Given the description of an element on the screen output the (x, y) to click on. 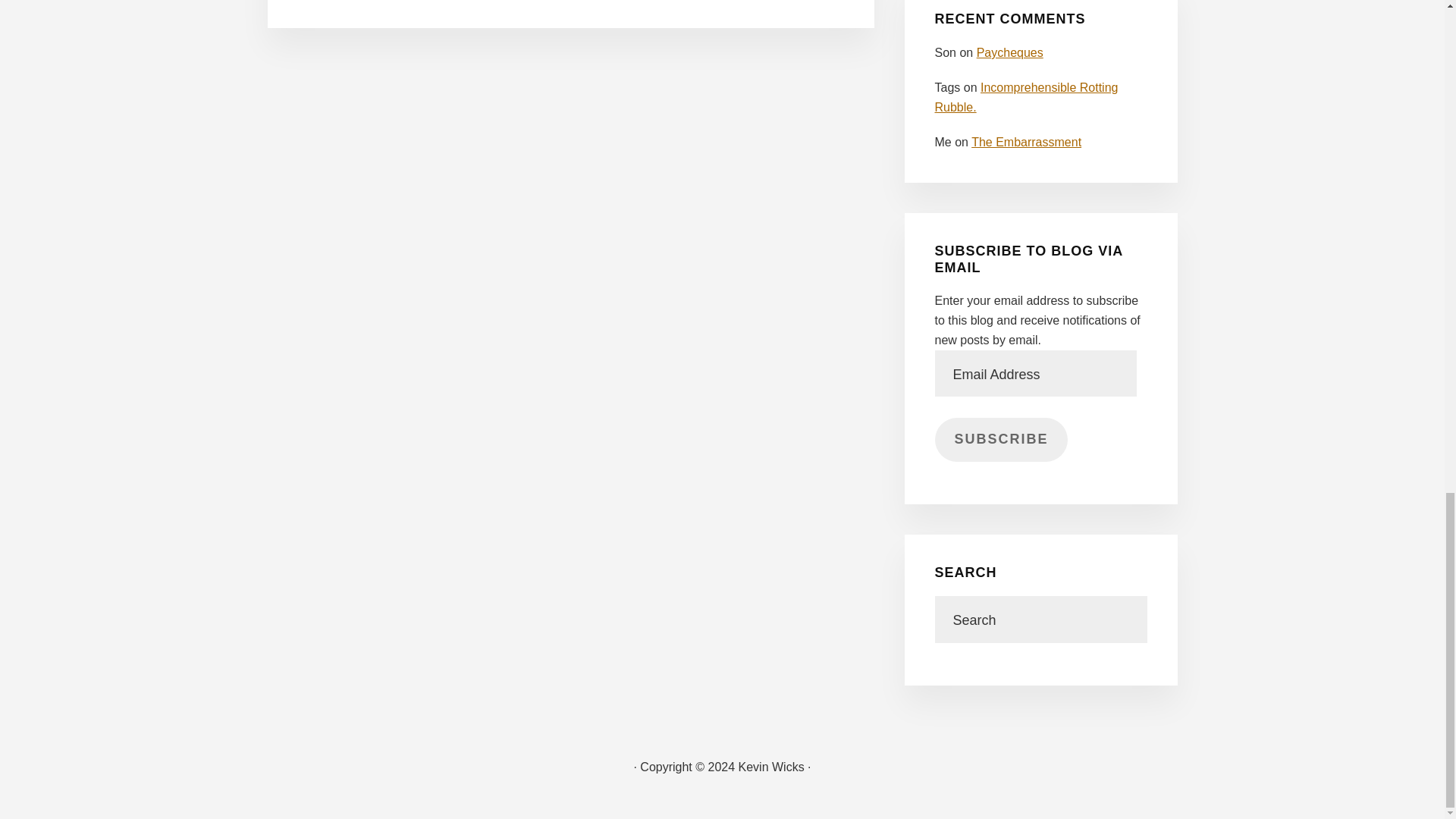
The Embarrassment (1026, 141)
Paycheques (1009, 51)
Incomprehensible Rotting Rubble. (1026, 97)
SUBSCRIBE (1000, 439)
